Given the description of an element on the screen output the (x, y) to click on. 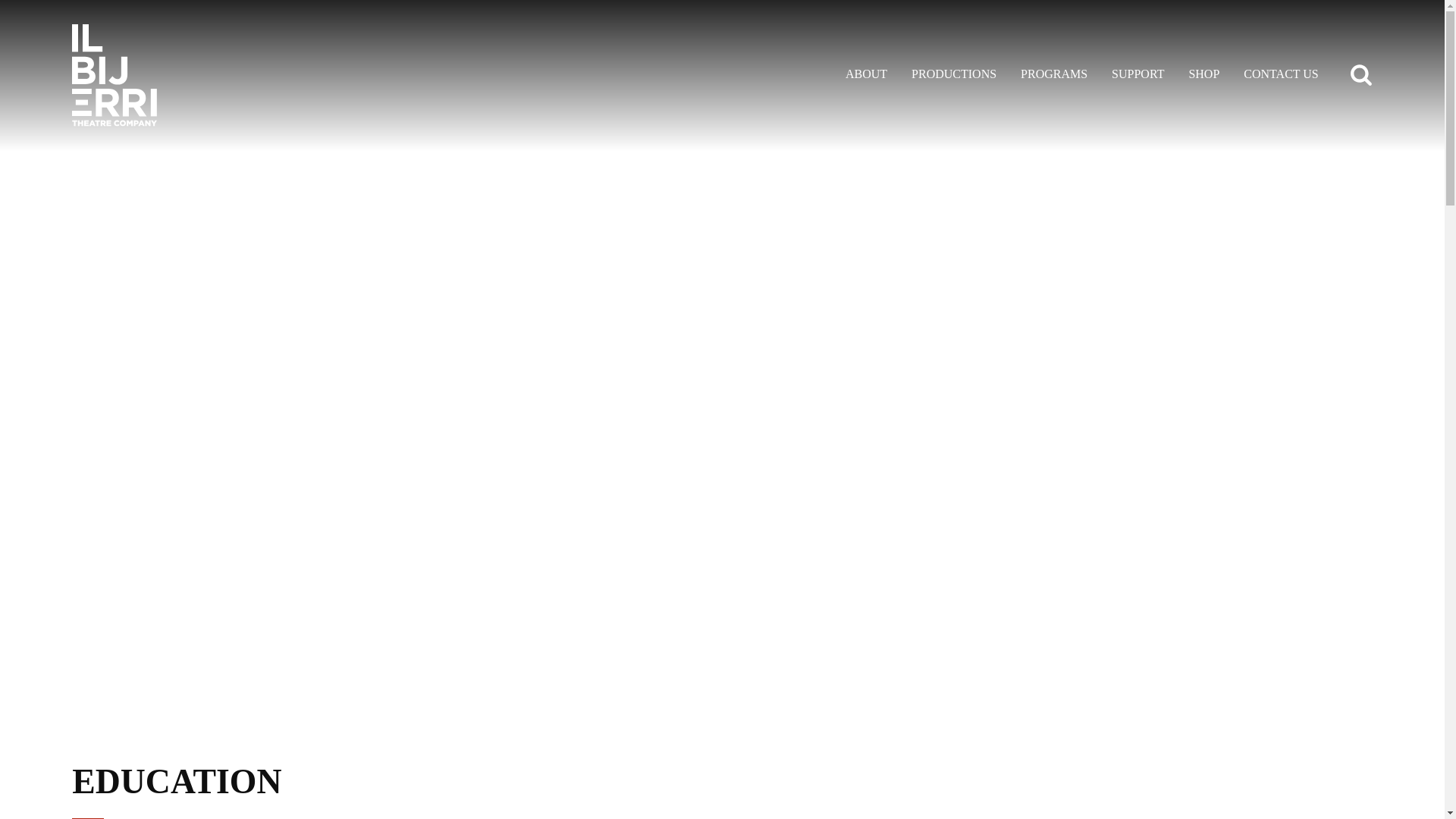
PRODUCTIONS (954, 75)
ABOUT (865, 75)
SUPPORT (1137, 75)
SHOP (1203, 75)
CONTACT US (1280, 75)
PROGRAMS (1054, 75)
